Given the description of an element on the screen output the (x, y) to click on. 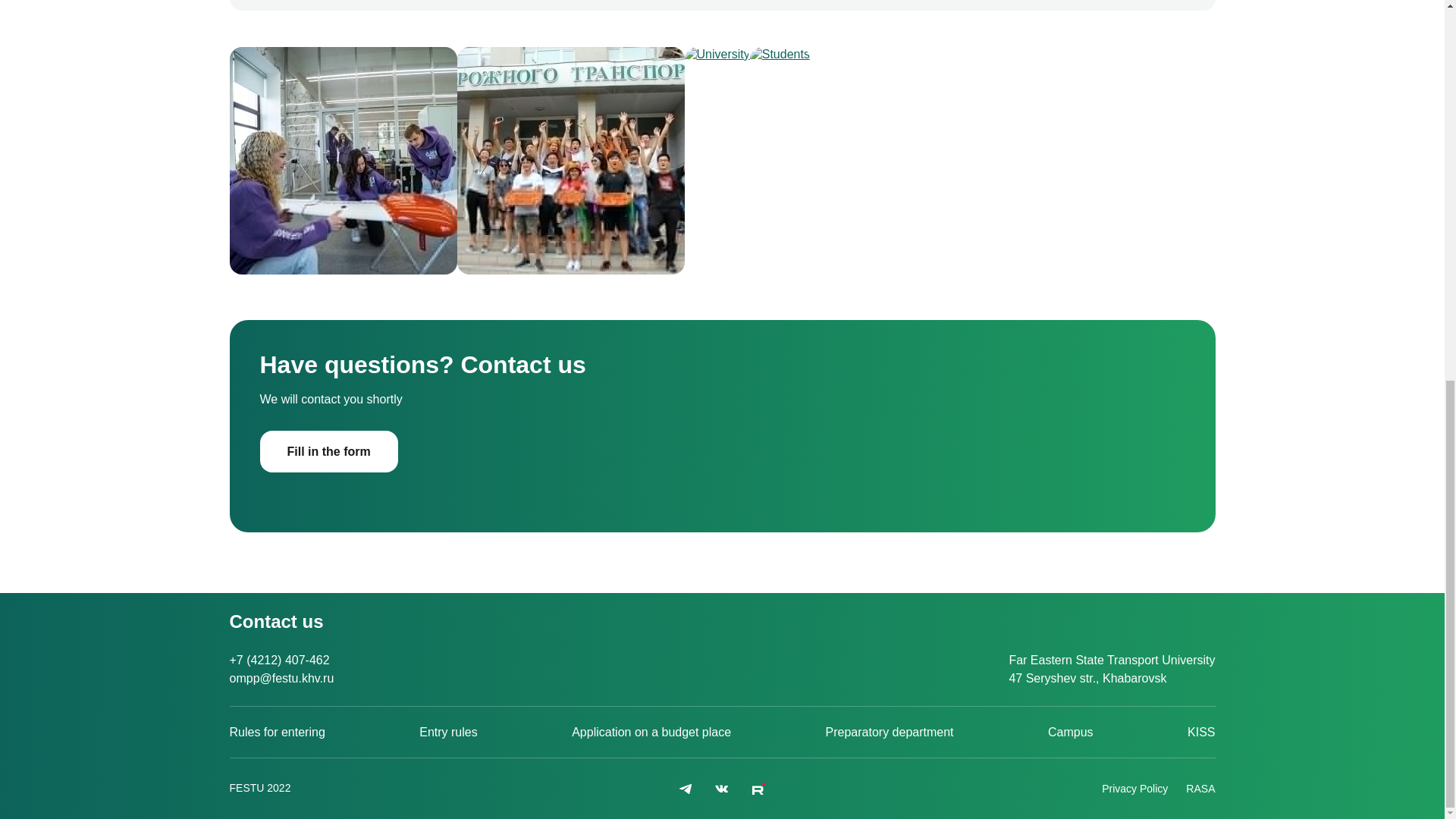
News ... (757, 788)
News in the Telegram channel (684, 788)
KISS (1201, 731)
Fill in the form (328, 451)
Far Eastern State Transport University (258, 788)
Entry rules (448, 731)
VK group (721, 788)
Rules for entering (276, 731)
Preparatory department (889, 731)
FESTU 2022 (258, 788)
